Given the description of an element on the screen output the (x, y) to click on. 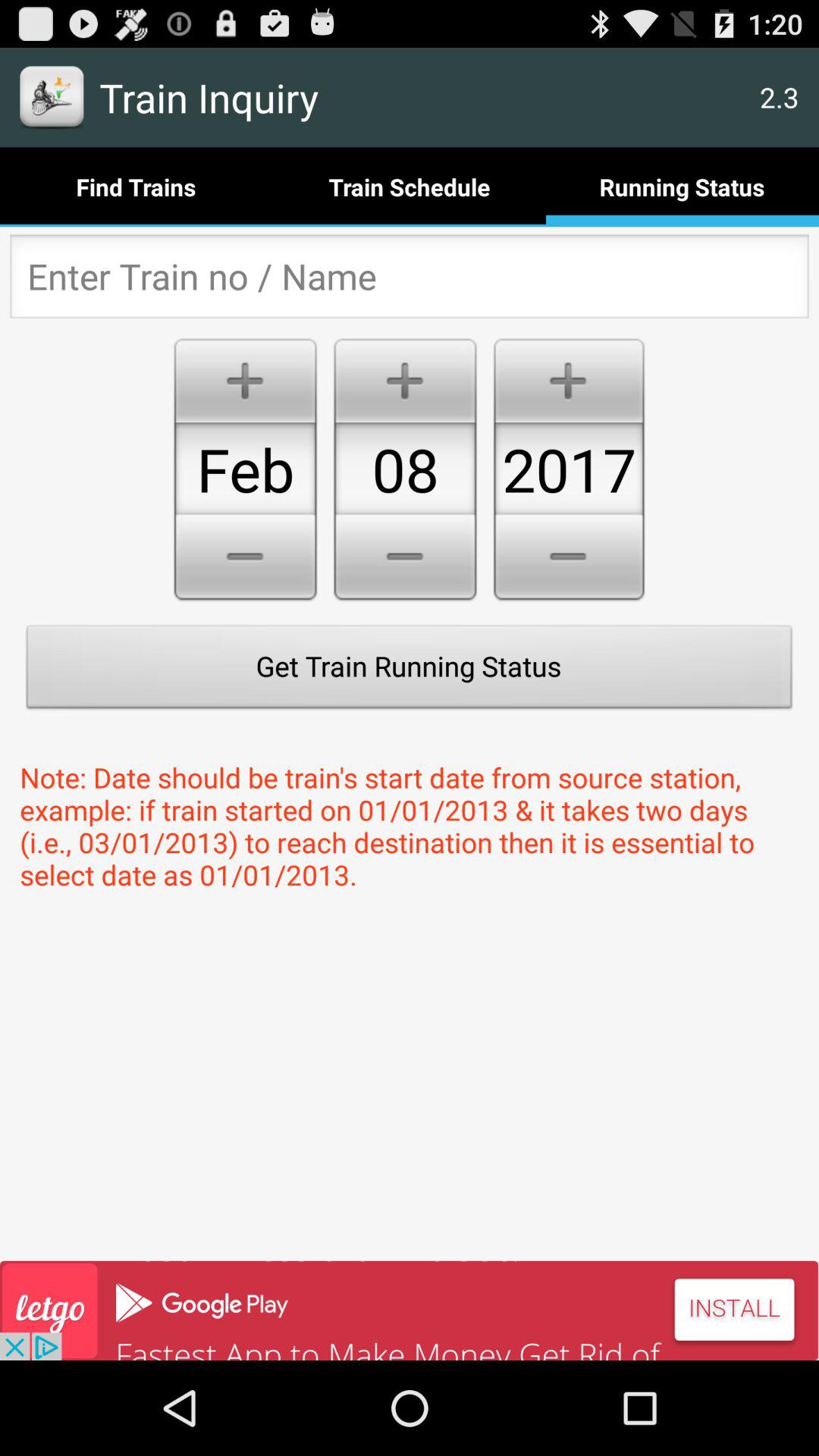
click on symbol below 08 (405, 559)
select the number which says 08 (405, 468)
click on button get train running status (409, 671)
select the plus icon above 2017 (568, 378)
click on the minus button below 2017 (568, 559)
select train schedule button right to find trains (409, 187)
select the button which is right side to the train schedule (682, 187)
